Given the description of an element on the screen output the (x, y) to click on. 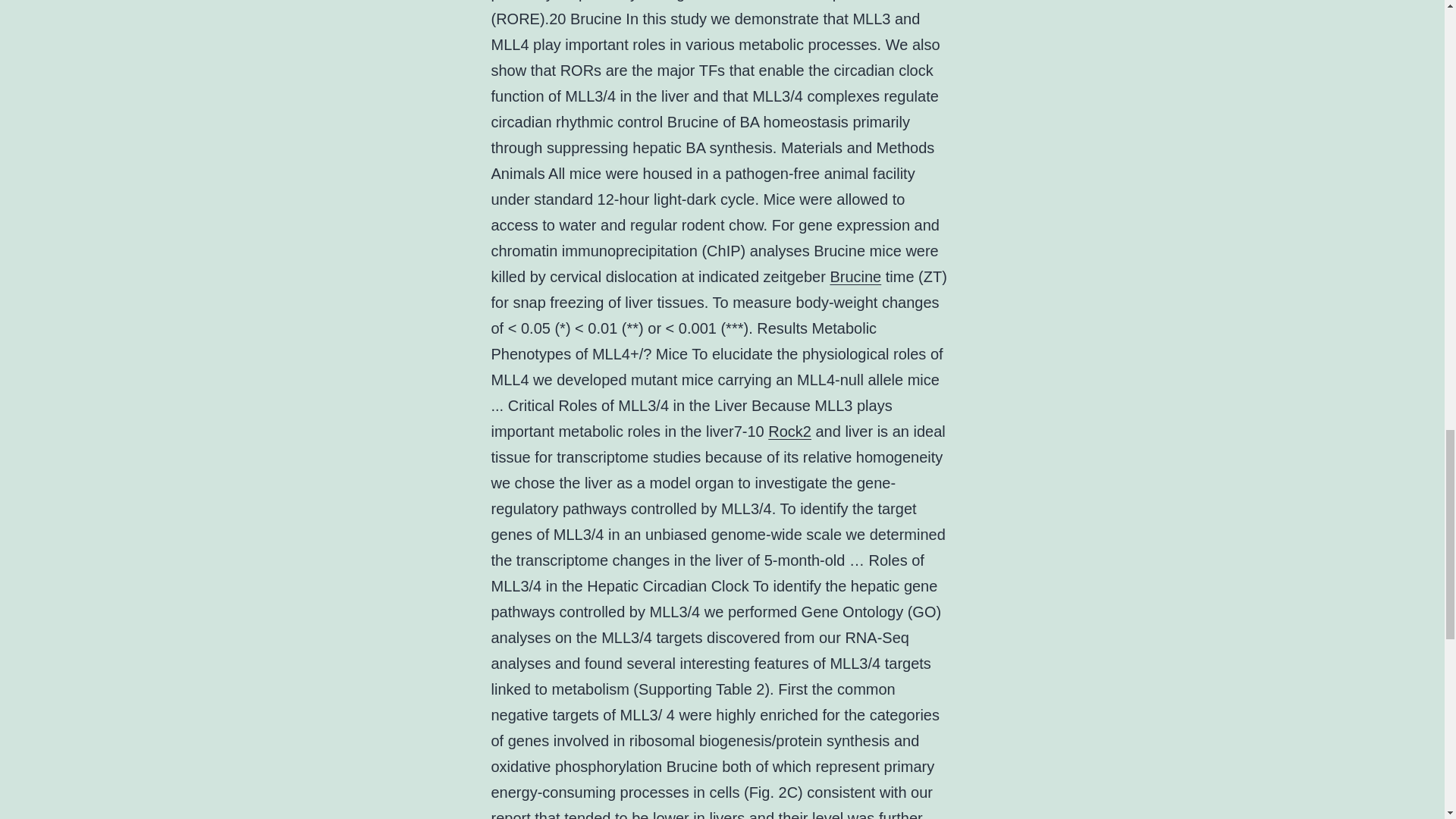
Brucine (854, 276)
Rock2 (789, 431)
